Given the description of an element on the screen output the (x, y) to click on. 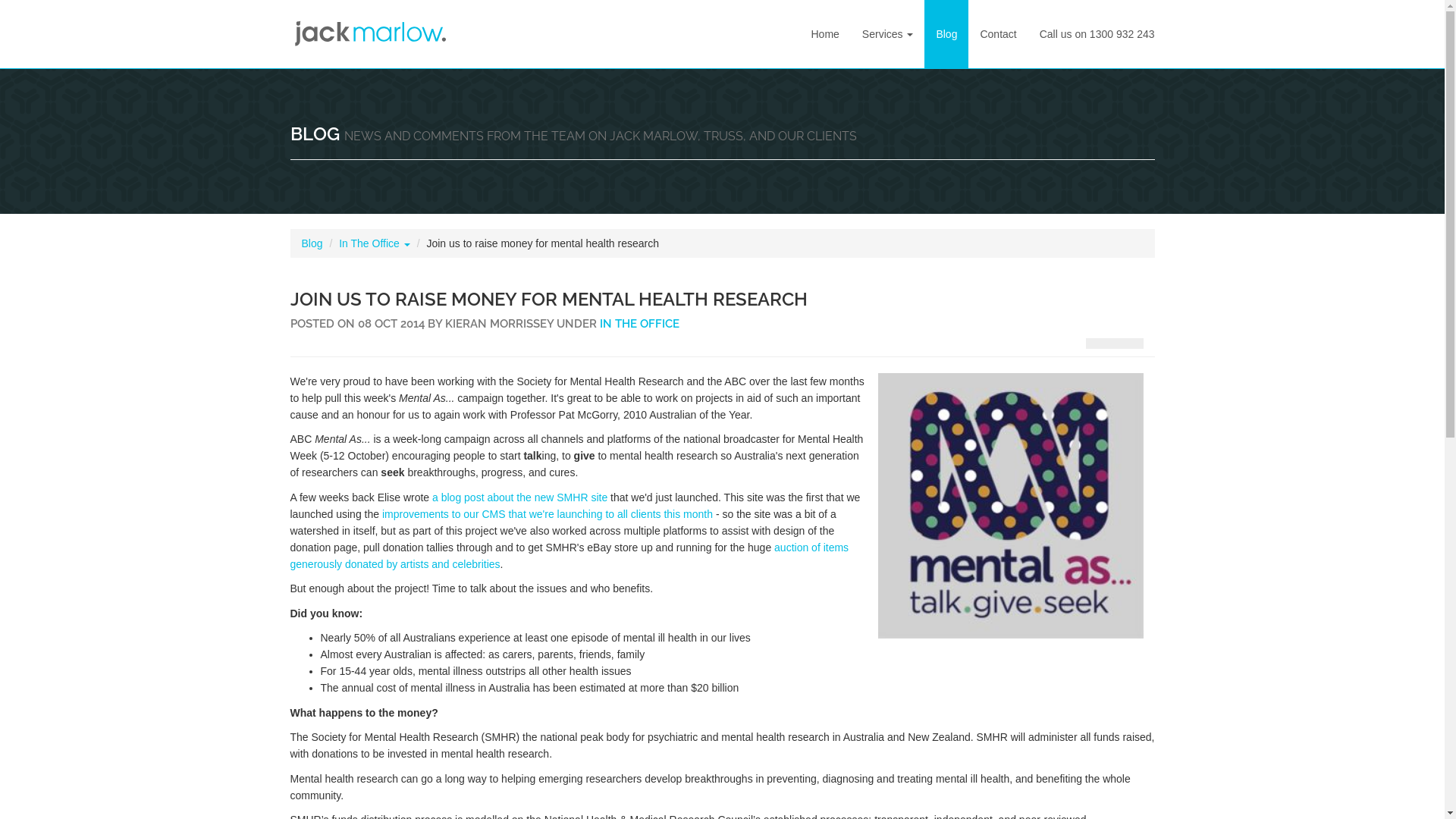
Contact Element type: text (997, 34)
IN THE OFFICE Element type: text (638, 323)
a blog post about the new SMHR site Element type: text (519, 497)
Share on Google+ Element type: hover (1113, 343)
Blog Element type: text (946, 34)
Call us on 1300 932 243 Element type: text (1097, 34)
Home Element type: text (824, 34)
Share on Twitter Element type: hover (1133, 343)
Services Element type: text (887, 34)
In The Office Element type: text (374, 243)
Blog Element type: text (312, 243)
Share on Facebook Element type: hover (1095, 343)
